Given the description of an element on the screen output the (x, y) to click on. 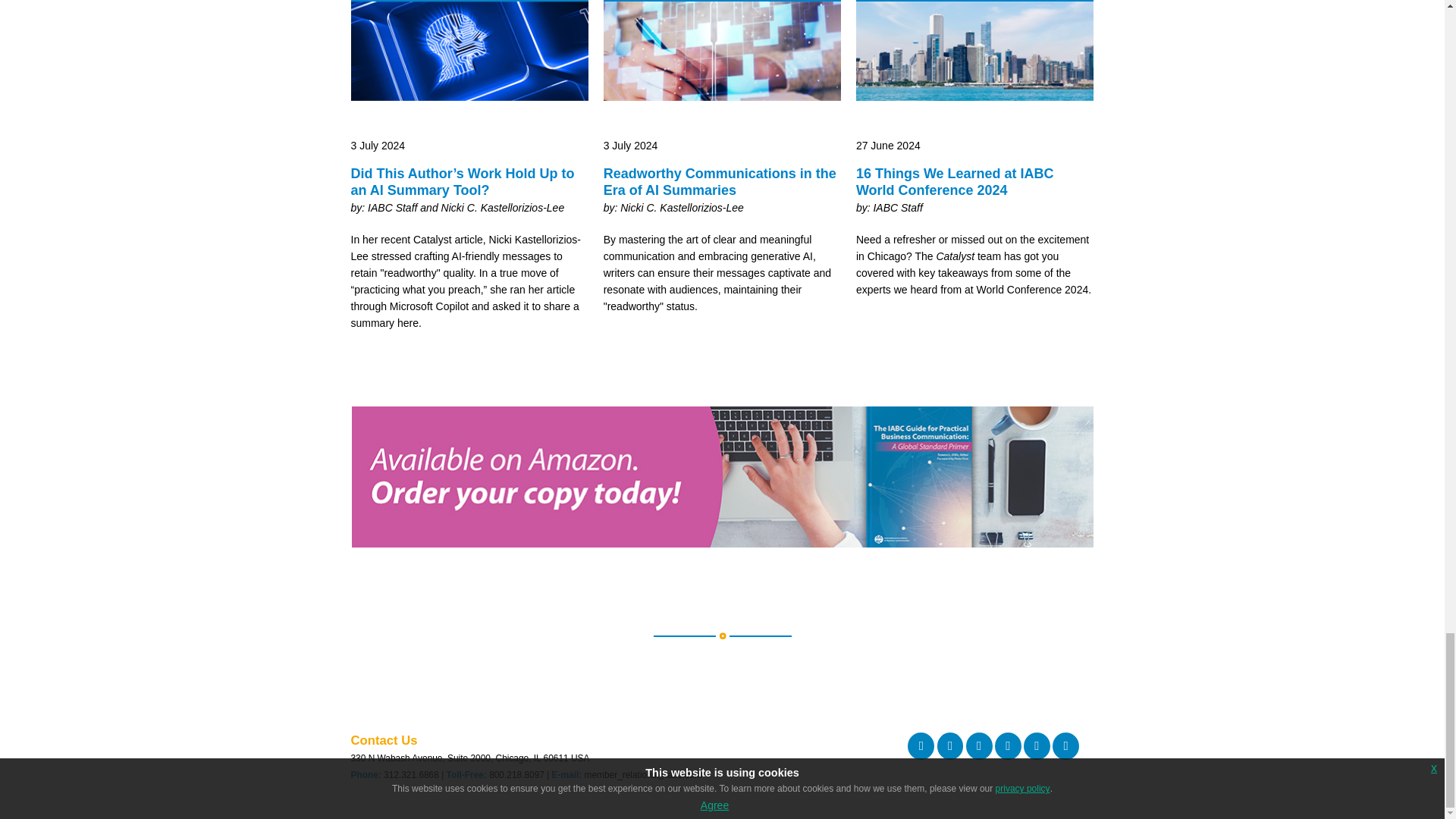
Readworthy Communications in the Era of AI Summaries (722, 176)
Login (361, 810)
16 Things We Learned at IABC World Conference 2024 (975, 176)
GPBC Banner (722, 543)
